Given the description of an element on the screen output the (x, y) to click on. 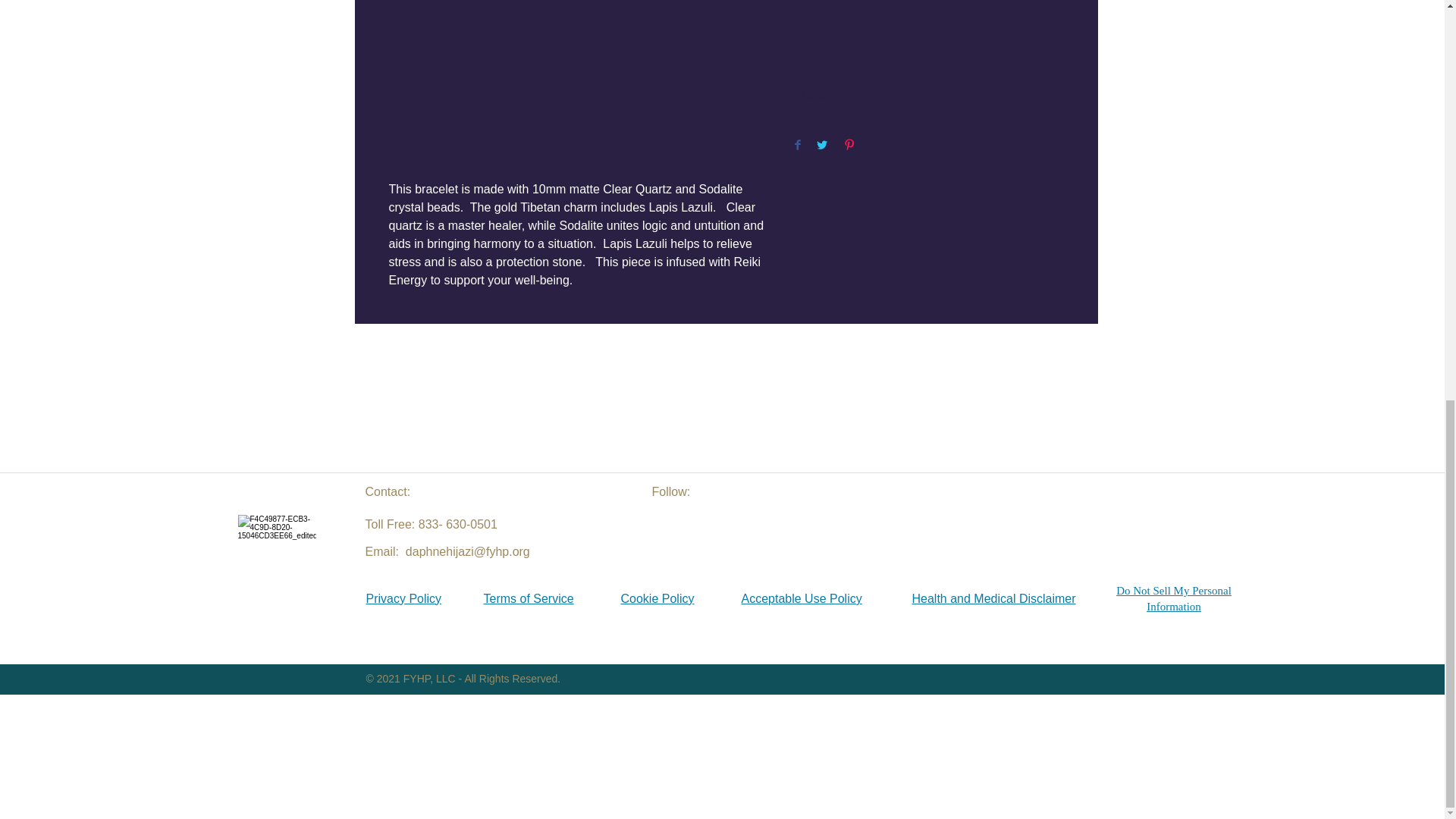
Care (929, 39)
Shipping (929, 95)
Privacy Policy (403, 598)
